Given the description of an element on the screen output the (x, y) to click on. 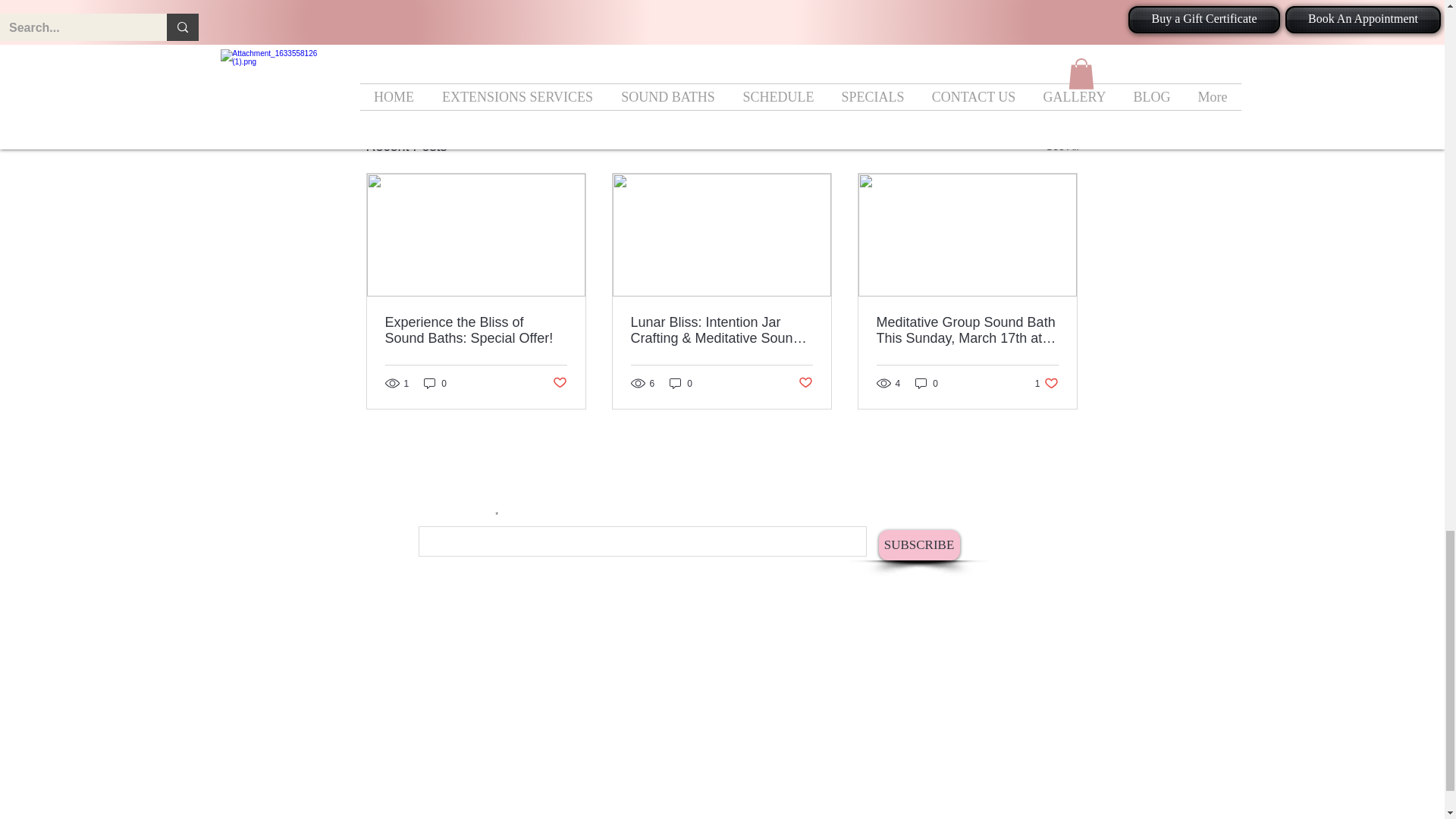
Post not marked as liked (995, 64)
Post not marked as liked (558, 383)
Experience the Bliss of Sound Baths: Special Offer! (476, 330)
0 (435, 382)
See All (1061, 146)
